Given the description of an element on the screen output the (x, y) to click on. 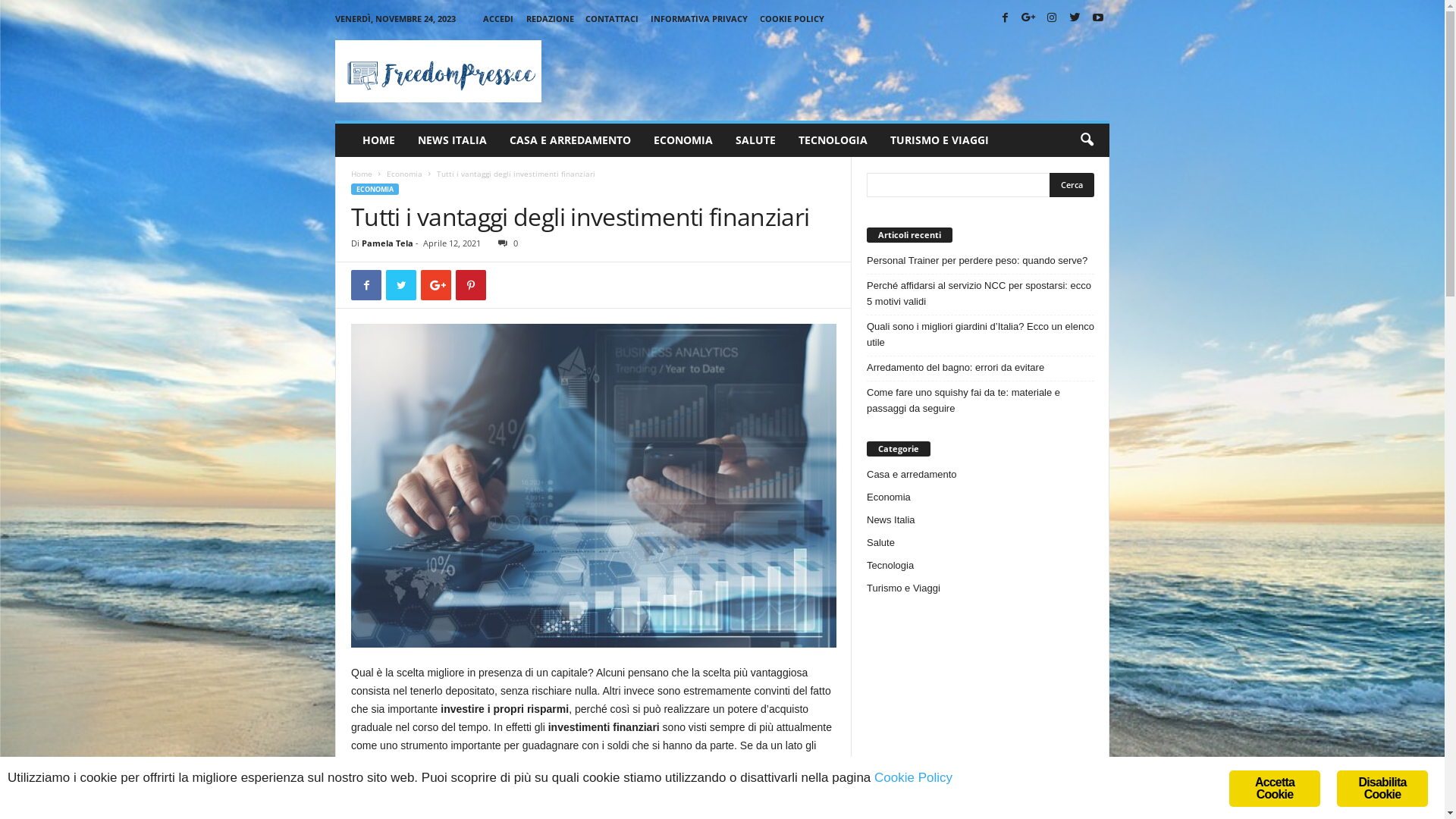
INFORMATIVA PRIVACY Element type: text (698, 18)
Disabilita Cookie Element type: text (1381, 788)
Pamela Tela Element type: text (387, 242)
Home Element type: text (361, 173)
TECNOLOGIA Element type: text (832, 139)
CASA E ARREDAMENTO Element type: text (570, 139)
0 Element type: text (504, 242)
Accetta Cookie Element type: text (1274, 788)
Cerca Element type: text (1071, 184)
TURISMO E VIAGGI Element type: text (939, 139)
ECONOMIA Element type: text (374, 188)
Personal Trainer per perdere peso: quando serve? Element type: text (980, 260)
ACCEDI Element type: text (498, 18)
Casa e arredamento Element type: text (911, 474)
CONTATTACI Element type: text (611, 18)
Turismo e Viaggi Element type: text (903, 587)
investimenti Element type: hover (593, 485)
ECONOMIA Element type: text (683, 139)
Tecnologia Element type: text (889, 565)
REDAZIONE Element type: text (550, 18)
SALUTE Element type: text (755, 139)
COOKIE POLICY Element type: text (791, 18)
Arredamento del bagno: errori da evitare Element type: text (980, 367)
Facebook Element type: hover (1005, 18)
NEWS ITALIA Element type: text (452, 139)
Economia Element type: text (888, 496)
Freedom Press Element type: text (438, 71)
Instagram Element type: hover (1051, 18)
Salute Element type: text (880, 542)
Twitter Element type: hover (1074, 18)
Google+ Element type: hover (1028, 18)
Cookie Policy Element type: text (913, 777)
HOME Element type: text (378, 139)
Economia Element type: text (404, 173)
News Italia Element type: text (890, 519)
Youtube Element type: hover (1097, 18)
